Given the description of an element on the screen output the (x, y) to click on. 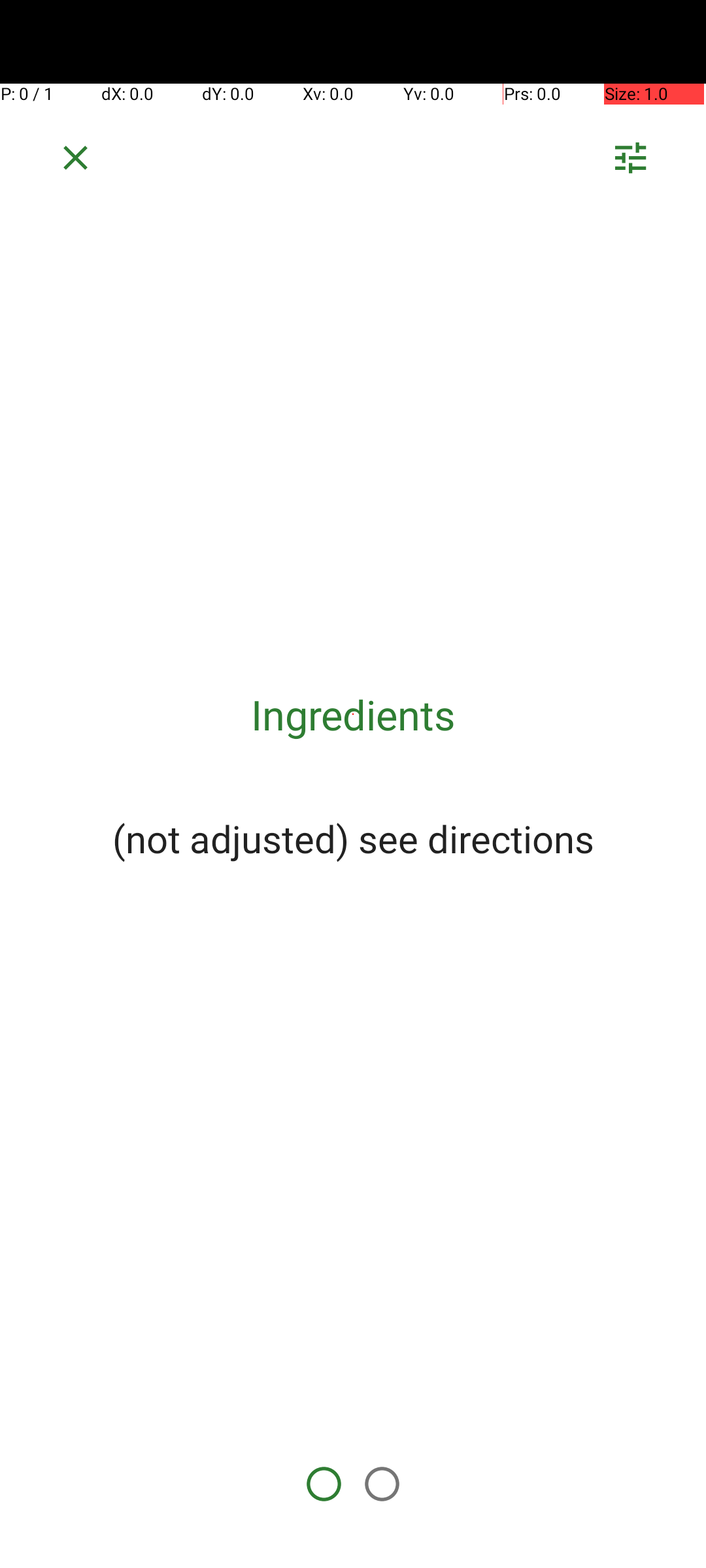
(not adjusted) see directions Element type: android.widget.TextView (352, 838)
